Given the description of an element on the screen output the (x, y) to click on. 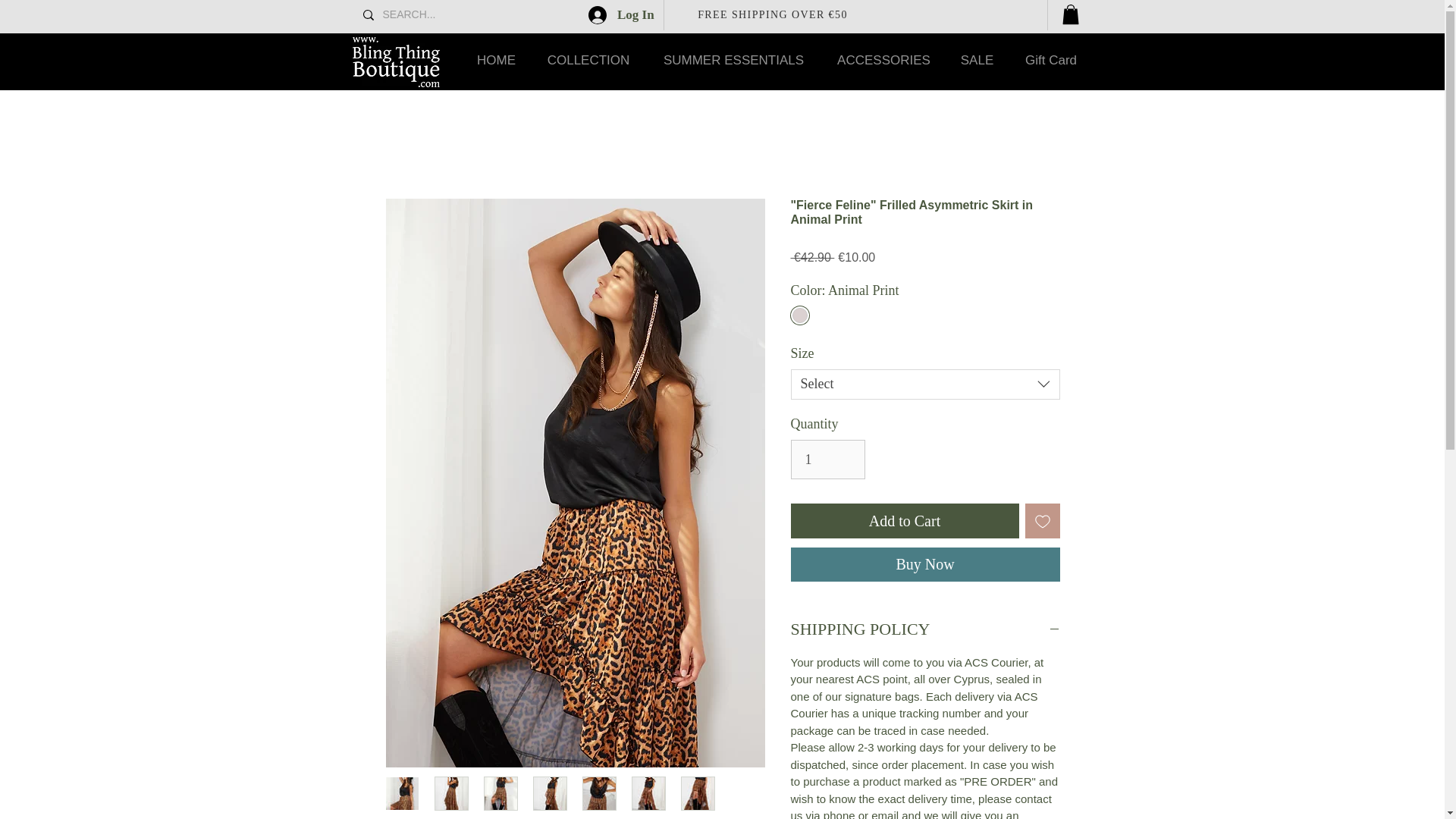
HOME (496, 59)
COLLECTION (588, 59)
SHIPPING POLICY (924, 629)
Add to Cart (903, 520)
Gift Card (1051, 59)
Select (924, 384)
SALE (977, 59)
1 (827, 459)
SUMMER ESSENTIALS (734, 59)
ACCESSORIES (884, 59)
